Given the description of an element on the screen output the (x, y) to click on. 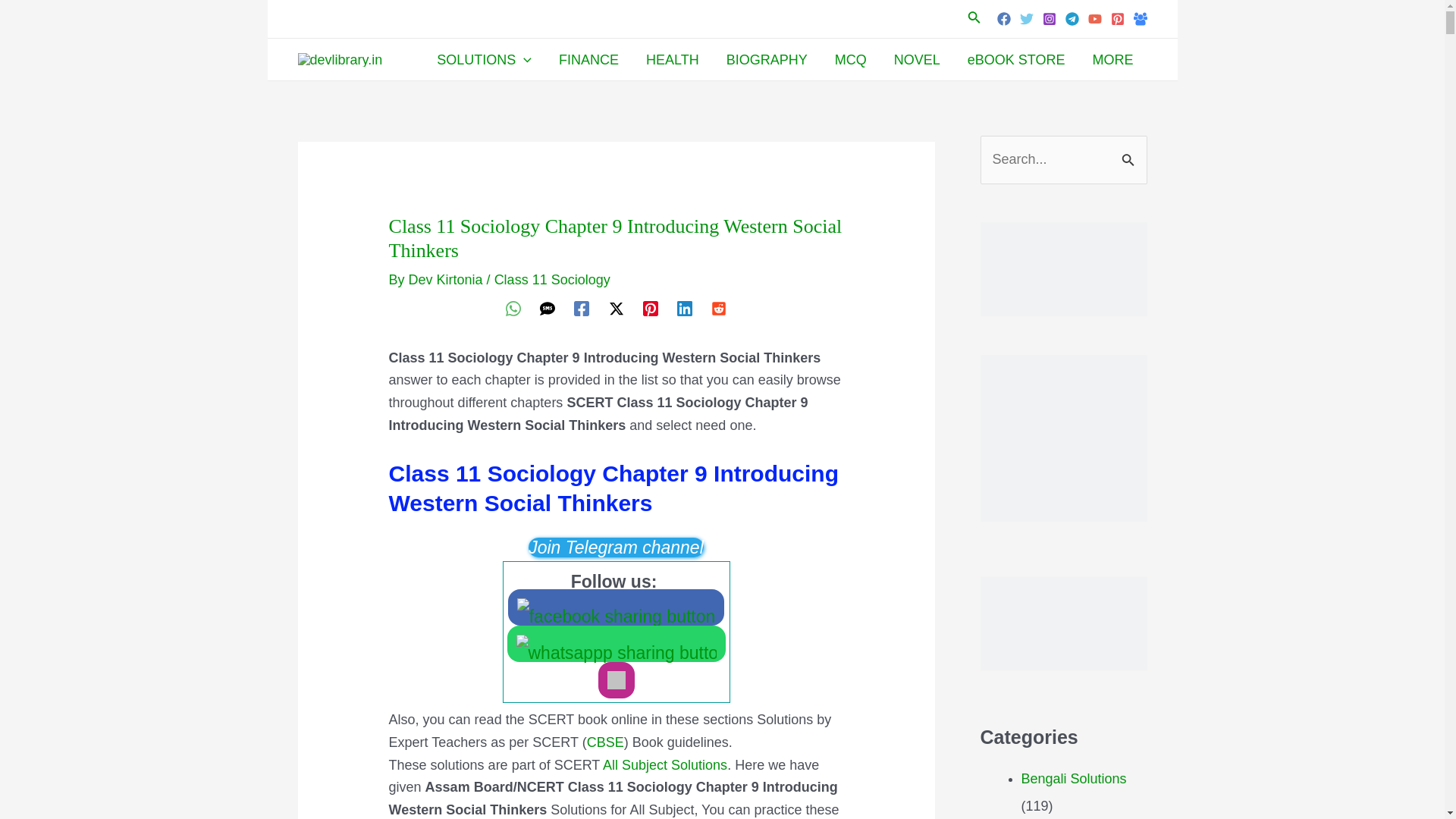
SOLUTIONS (483, 59)
INDIAN HOLIDAY CALENDAR (1063, 268)
View all posts by Dev Kirtonia (447, 279)
HEALTH (672, 59)
eBOOK STORE (1015, 59)
MCQ (850, 59)
MORE (1112, 59)
NOVEL (916, 59)
BIOGRAPHY (767, 59)
Search (1130, 151)
